Given the description of an element on the screen output the (x, y) to click on. 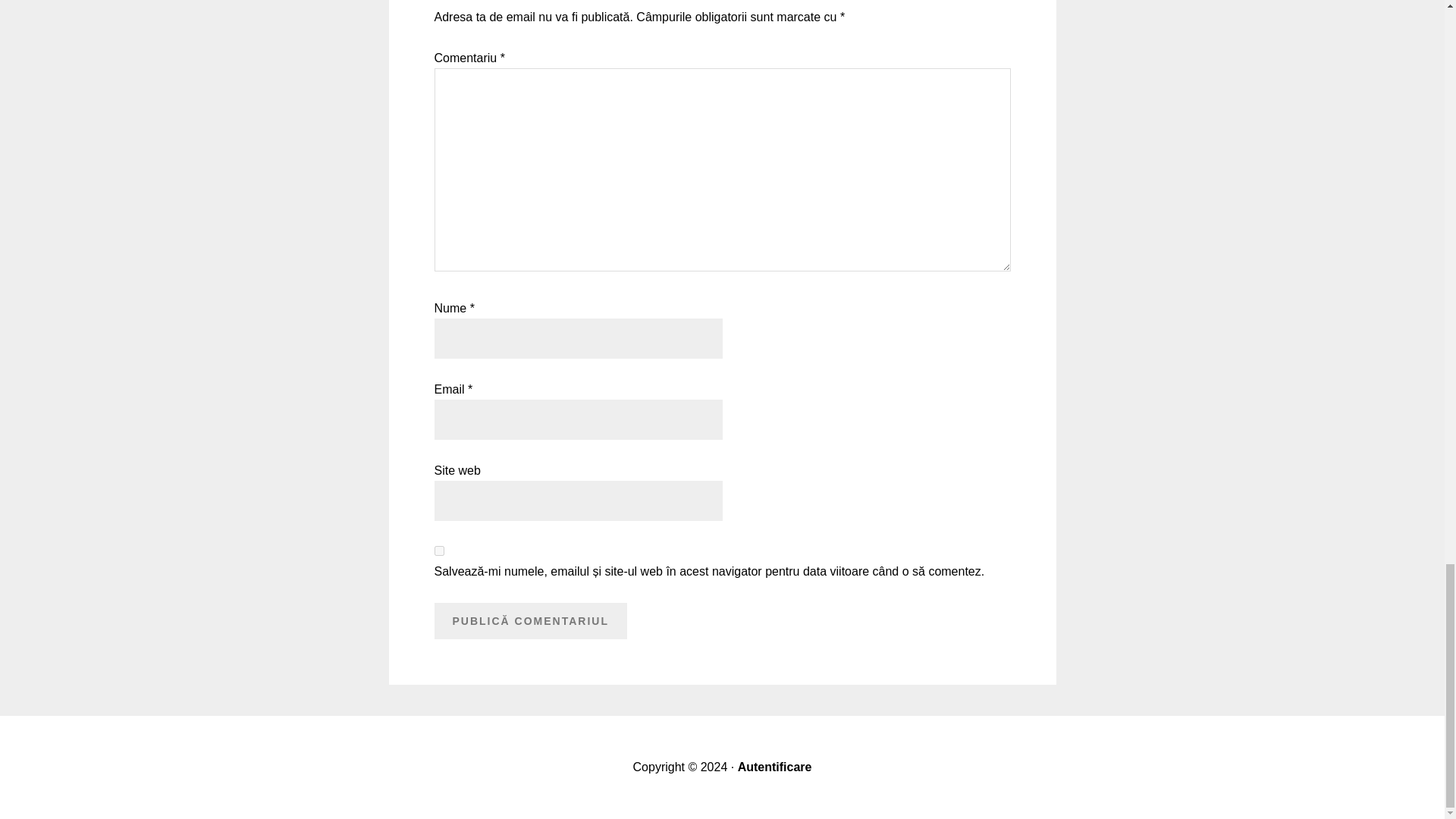
Autentificare (775, 766)
yes (438, 551)
